Given the description of an element on the screen output the (x, y) to click on. 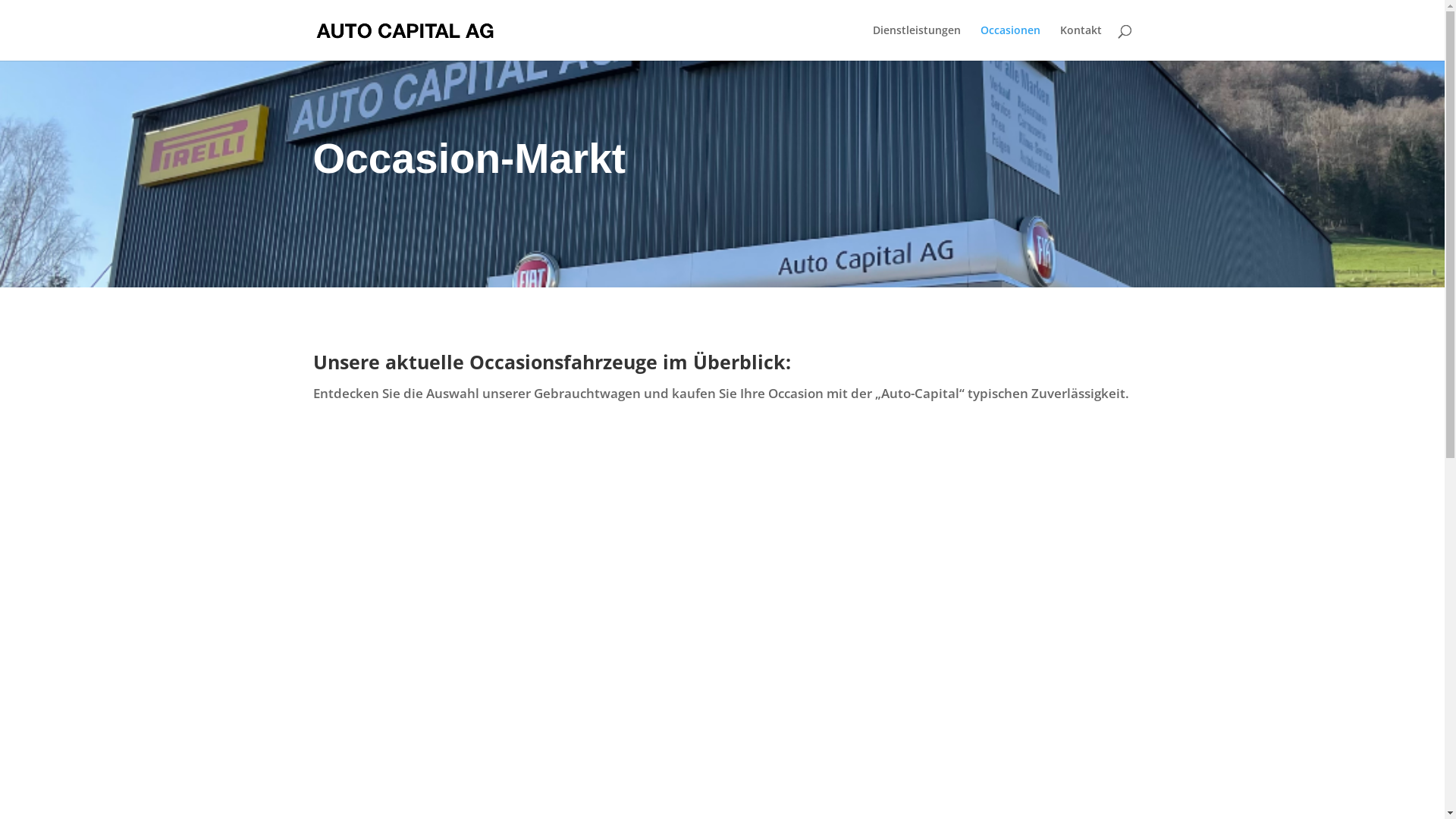
Kontakt Element type: text (1080, 42)
Dienstleistungen Element type: text (916, 42)
Occasionen Element type: text (1009, 42)
